Given the description of an element on the screen output the (x, y) to click on. 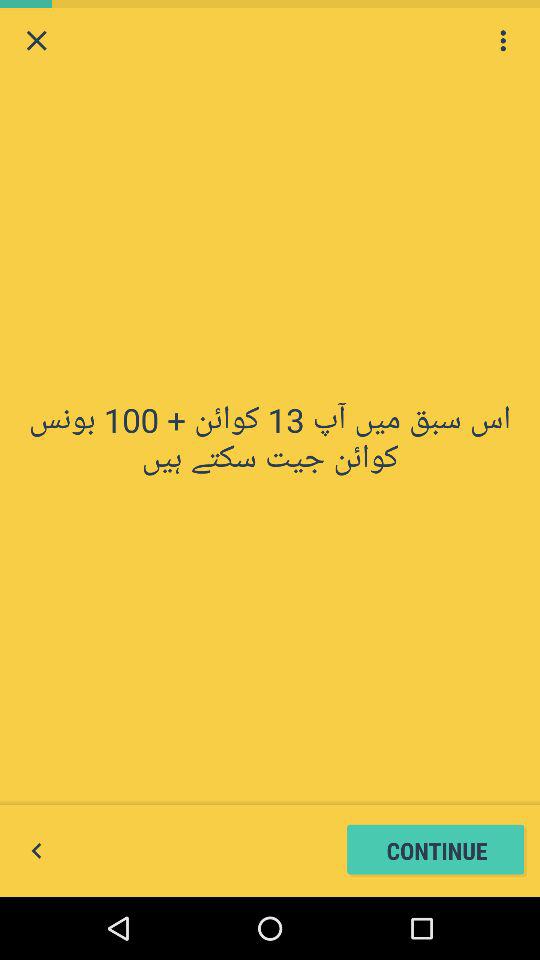
open menu (503, 40)
